Given the description of an element on the screen output the (x, y) to click on. 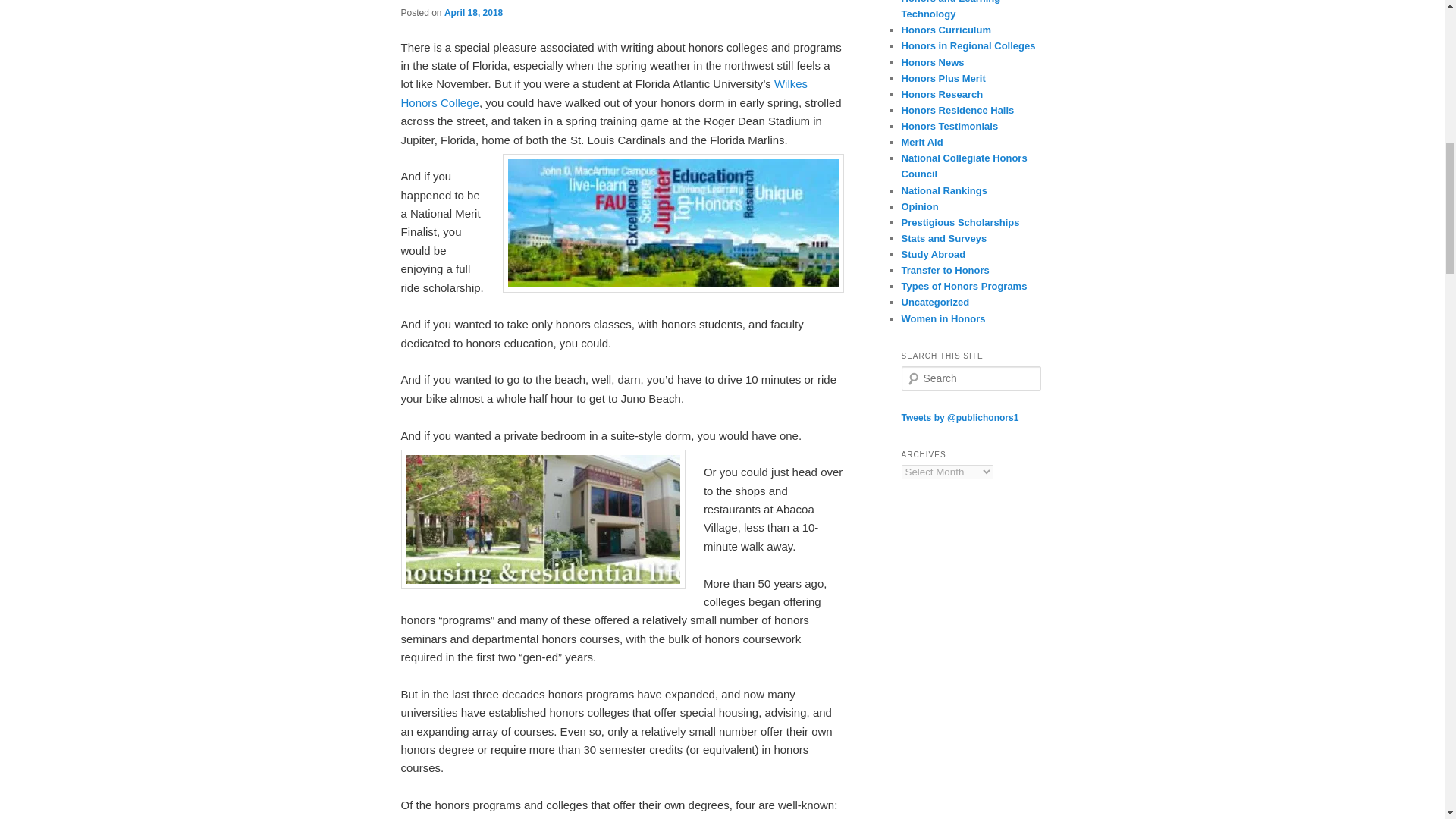
11:44 am (473, 12)
April 18, 2018 (473, 12)
Wilkes Honors College (604, 92)
